Given the description of an element on the screen output the (x, y) to click on. 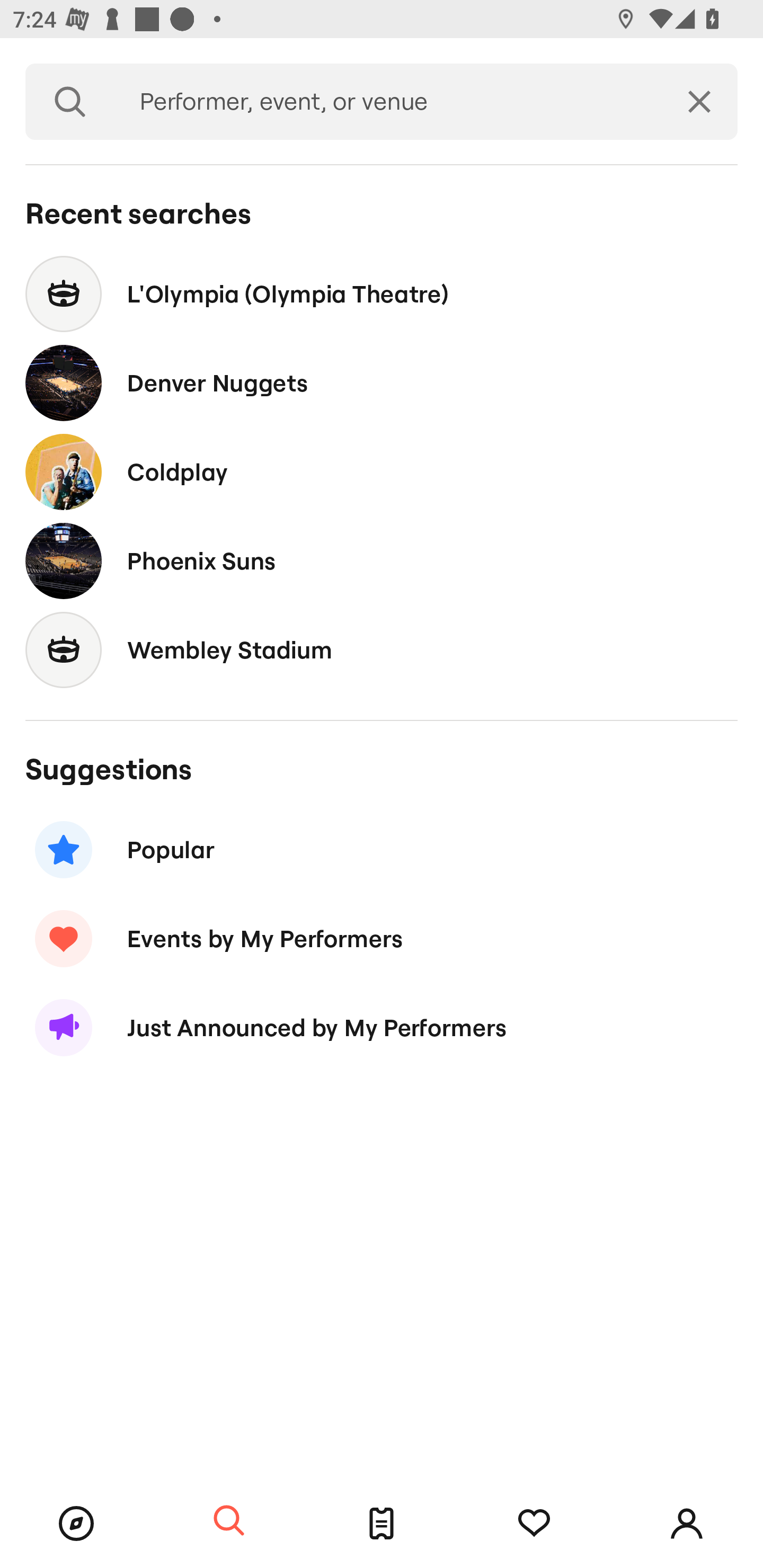
Search (69, 101)
Performer, event, or venue (387, 101)
Clear (699, 101)
L'Olympia (Olympia Theatre) (381, 293)
Denver Nuggets (381, 383)
Coldplay (381, 471)
Phoenix Suns (381, 560)
Wembley Stadium (381, 649)
Popular (381, 849)
Events by My Performers (381, 938)
Just Announced by My Performers (381, 1027)
Browse (76, 1523)
Search (228, 1521)
Tickets (381, 1523)
Tracking (533, 1523)
Account (686, 1523)
